Given the description of an element on the screen output the (x, y) to click on. 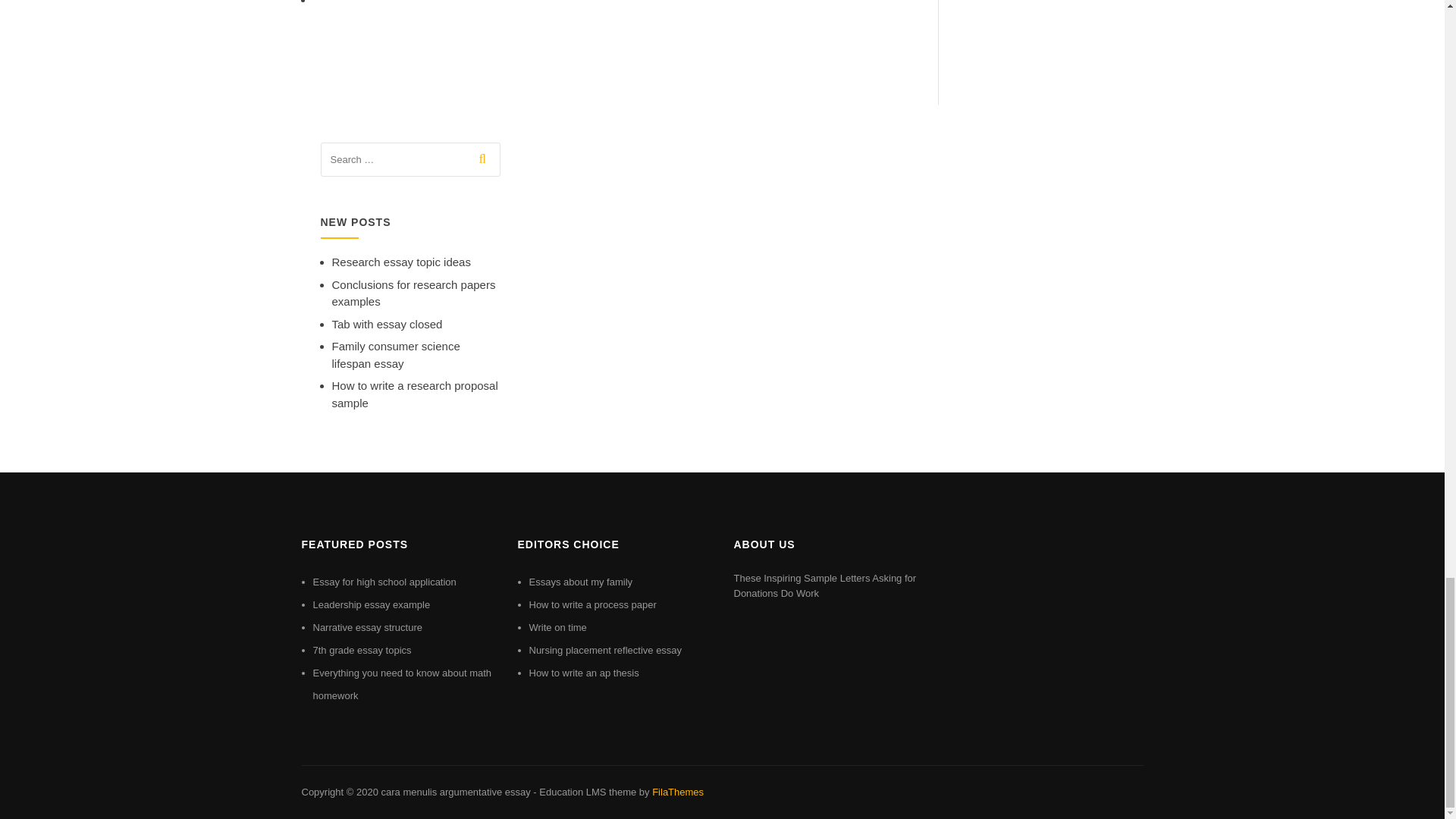
Conclusions for research papers examples (413, 293)
Nursing placement reflective essay (605, 650)
Narrative essay structure (367, 627)
How to write a process paper (592, 604)
Family consumer science lifespan essay (395, 354)
7th grade essay topics (361, 650)
Research essay topic ideas (400, 261)
Leadership essay example (371, 604)
Tab with essay closed (386, 323)
Write on time (557, 627)
